Given the description of an element on the screen output the (x, y) to click on. 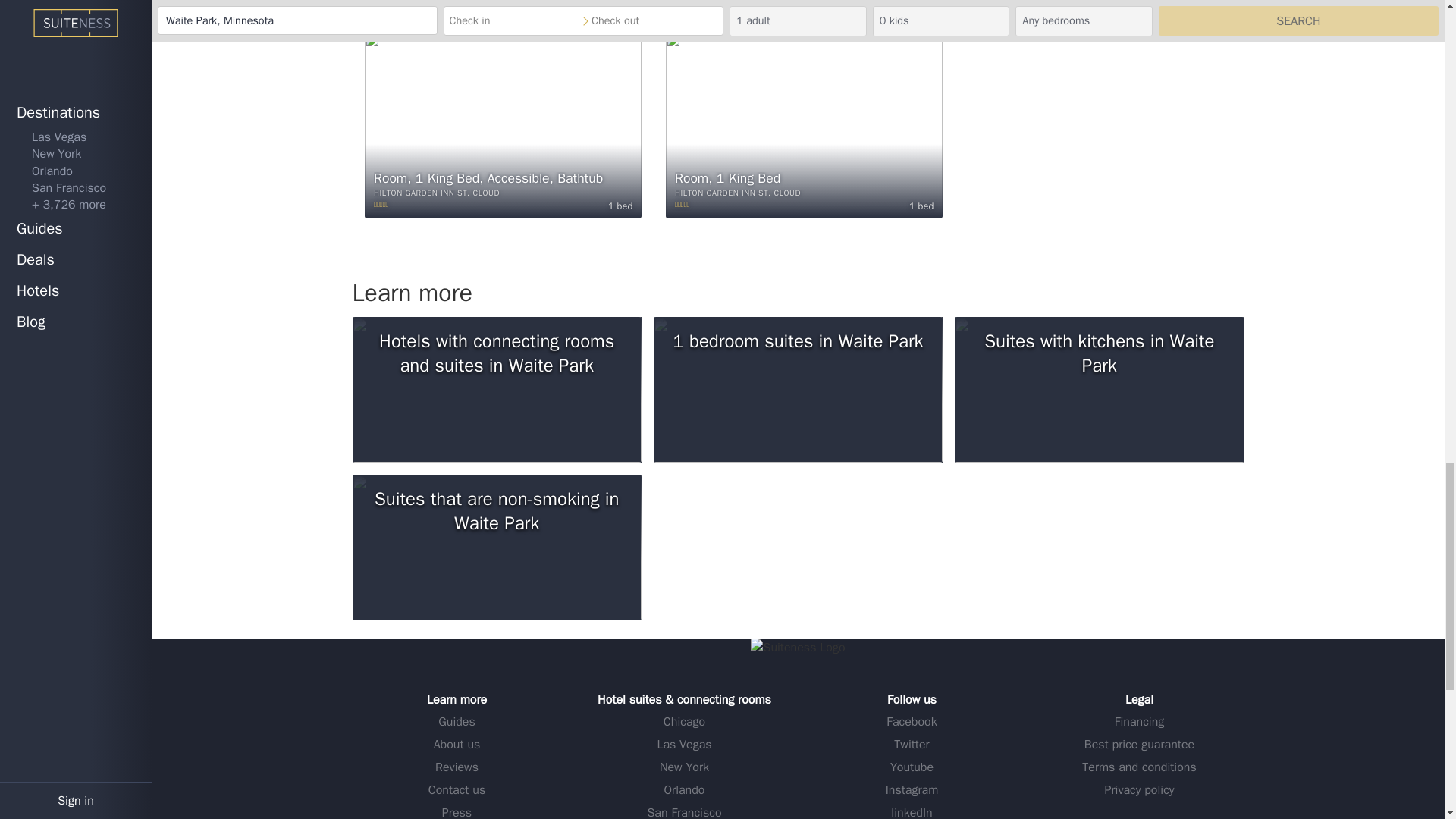
Hotels with connecting rooms and suites in Waite Park (496, 389)
